Given the description of an element on the screen output the (x, y) to click on. 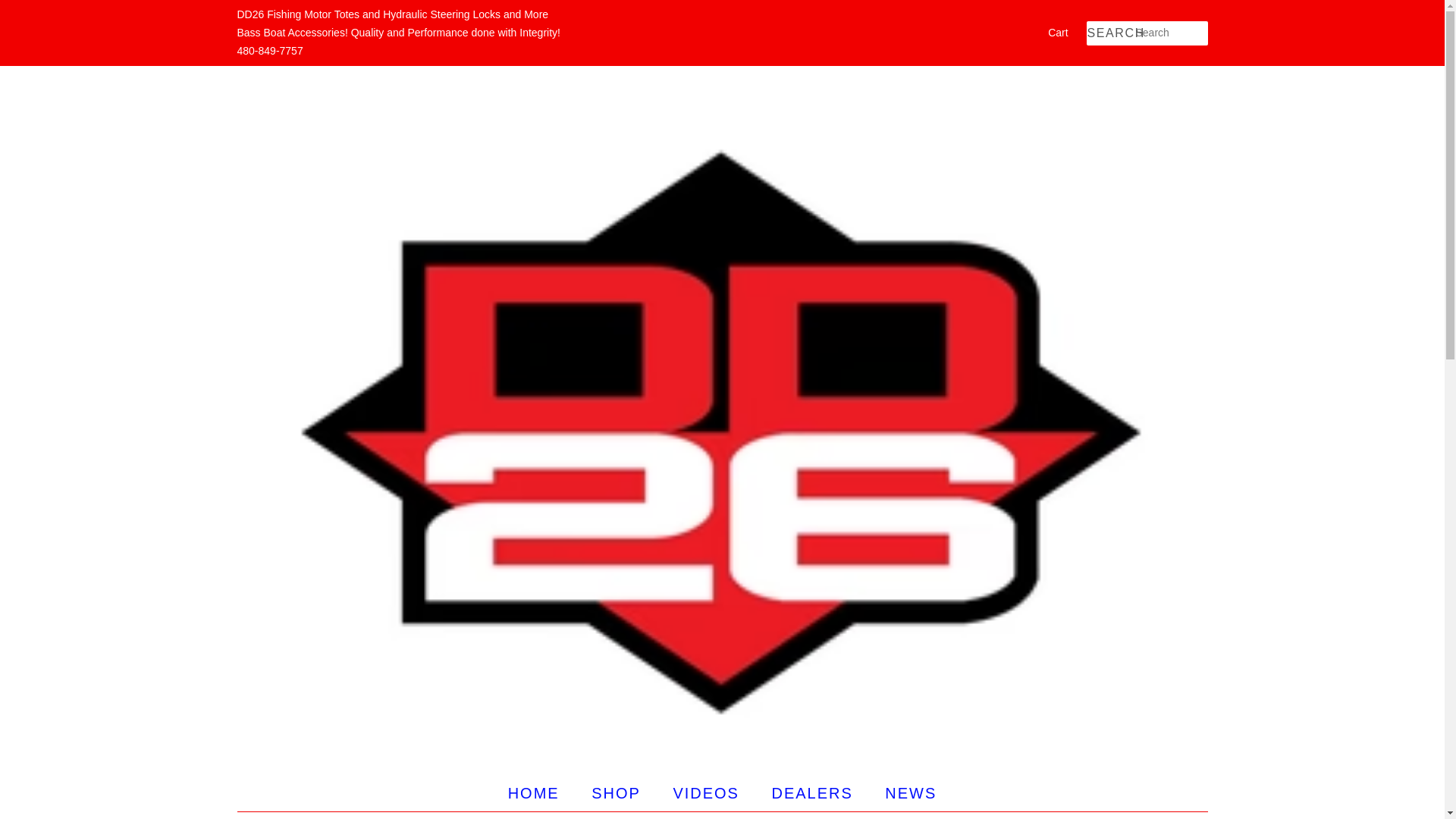
NEWS (904, 792)
DEALERS (813, 792)
VIDEOS (707, 792)
SHOP (617, 792)
SEARCH (1110, 33)
Cart (1057, 33)
HOME (541, 792)
